Given the description of an element on the screen output the (x, y) to click on. 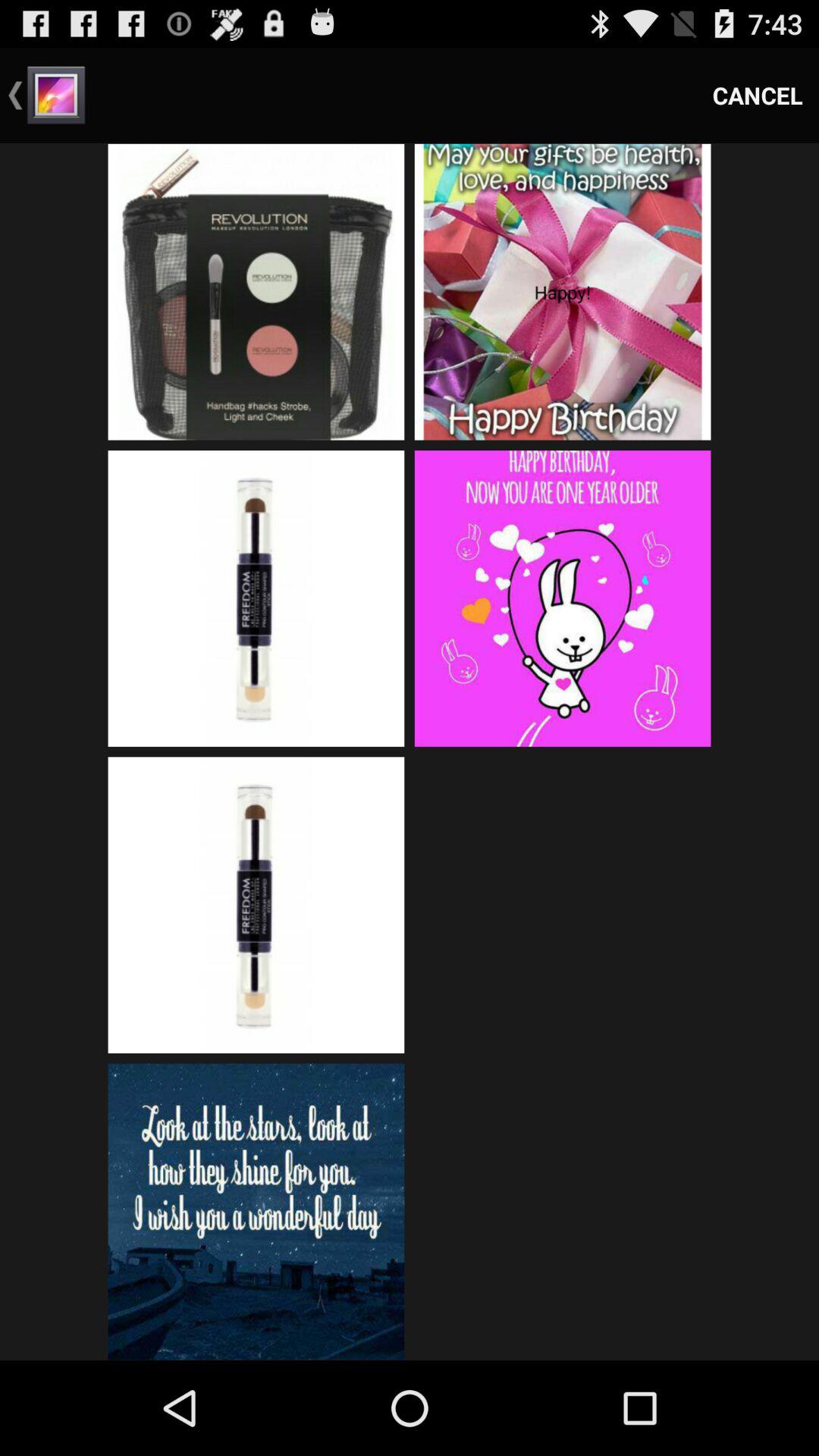
flip until cancel (757, 95)
